Given the description of an element on the screen output the (x, y) to click on. 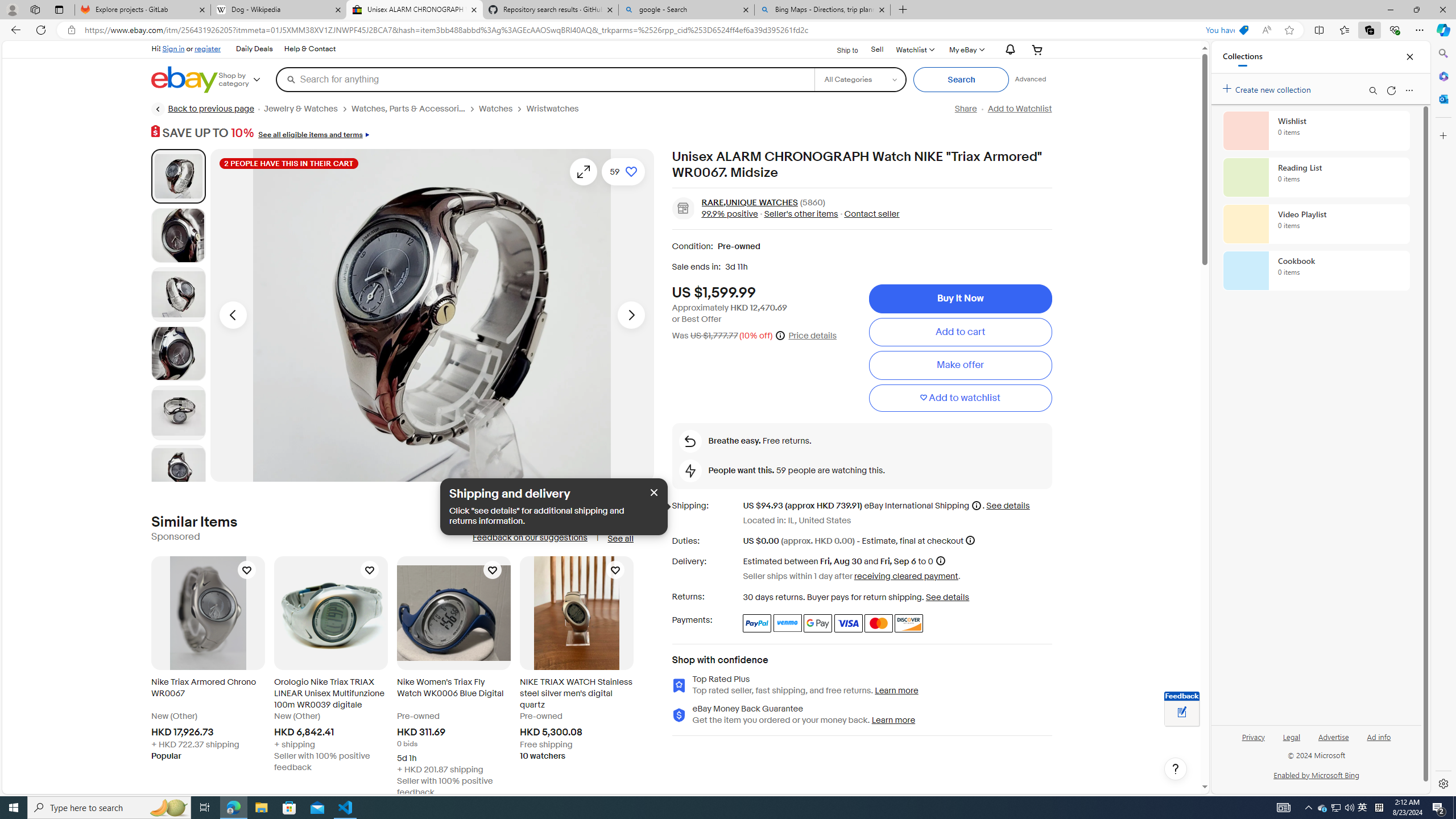
Master Card (877, 623)
Your shopping cart (1037, 49)
See details - for more information about returns (947, 597)
Watches (503, 108)
Picture 1 of 18 (178, 175)
Ship to (839, 48)
See all eligible items and terms (311, 133)
